Given the description of an element on the screen output the (x, y) to click on. 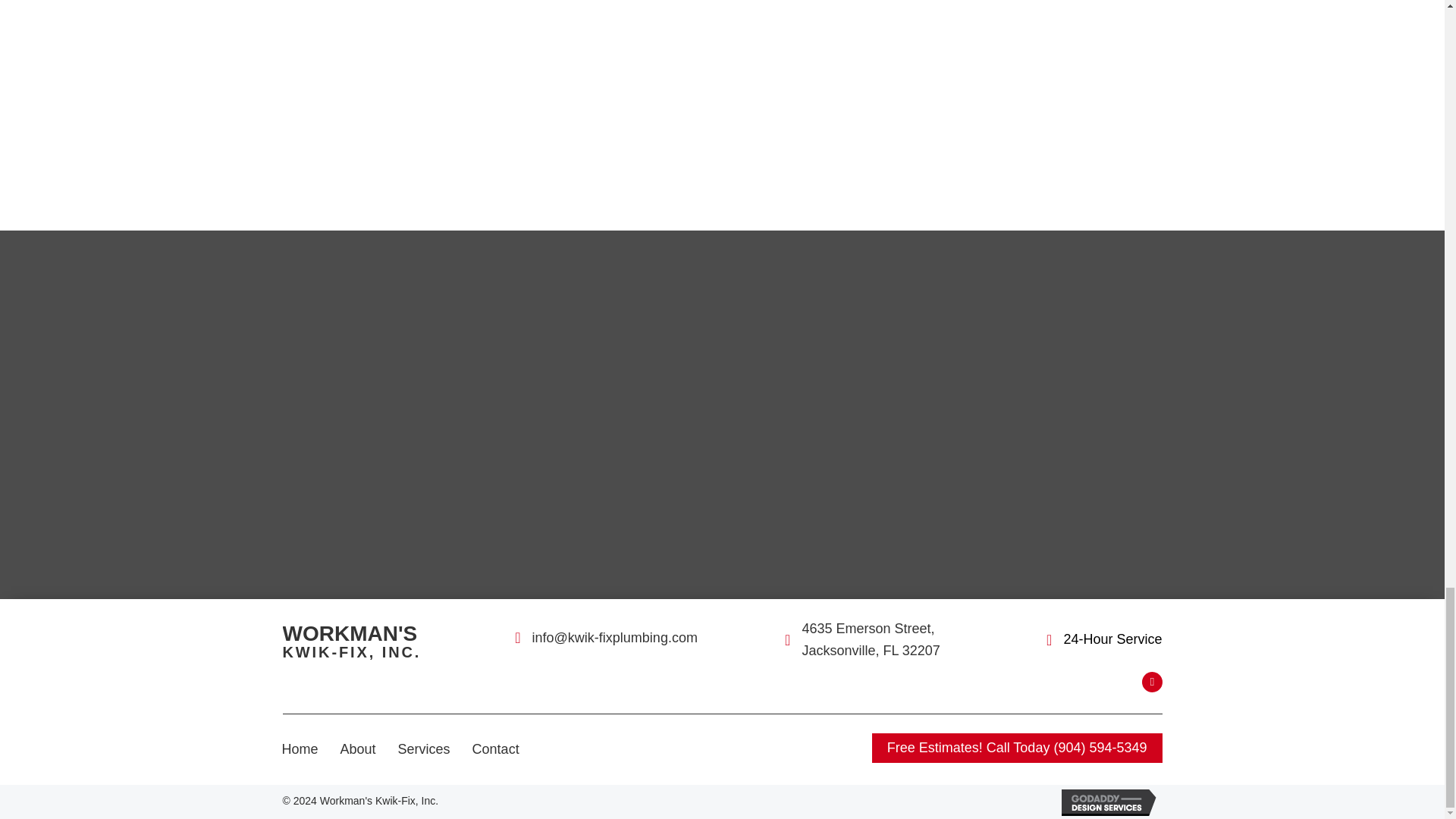
Home (299, 749)
Services (377, 641)
About (424, 749)
4635 Emerson Street, Jacksonville, FL 32207 (358, 749)
Contact (888, 639)
